Given the description of an element on the screen output the (x, y) to click on. 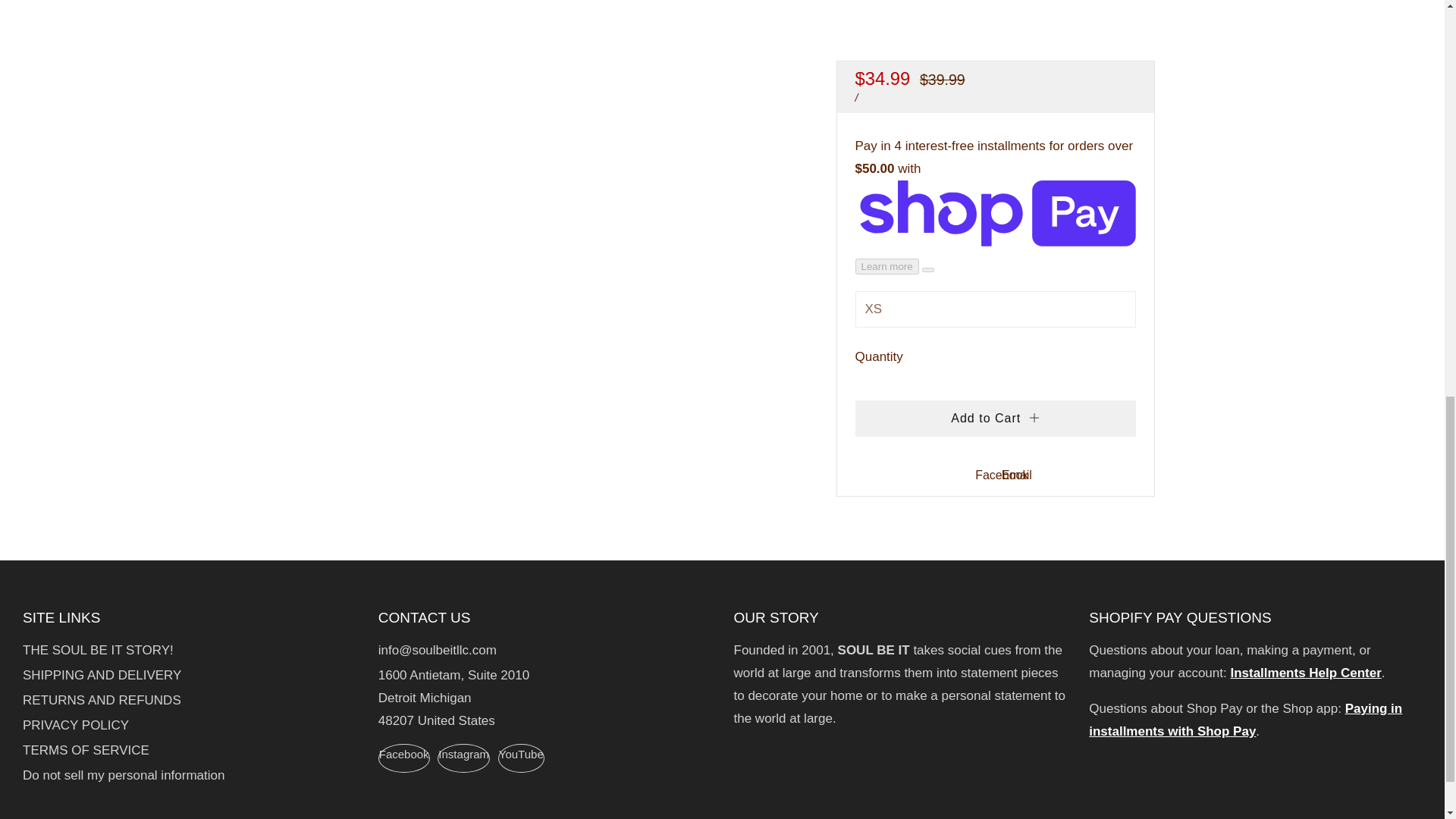
THE SOUL BE IT STORY! (98, 649)
PRIVACY POLICY (76, 725)
RETURNS AND REFUNDS (101, 699)
SHIPPING AND DELIVERY (101, 675)
